Given the description of an element on the screen output the (x, y) to click on. 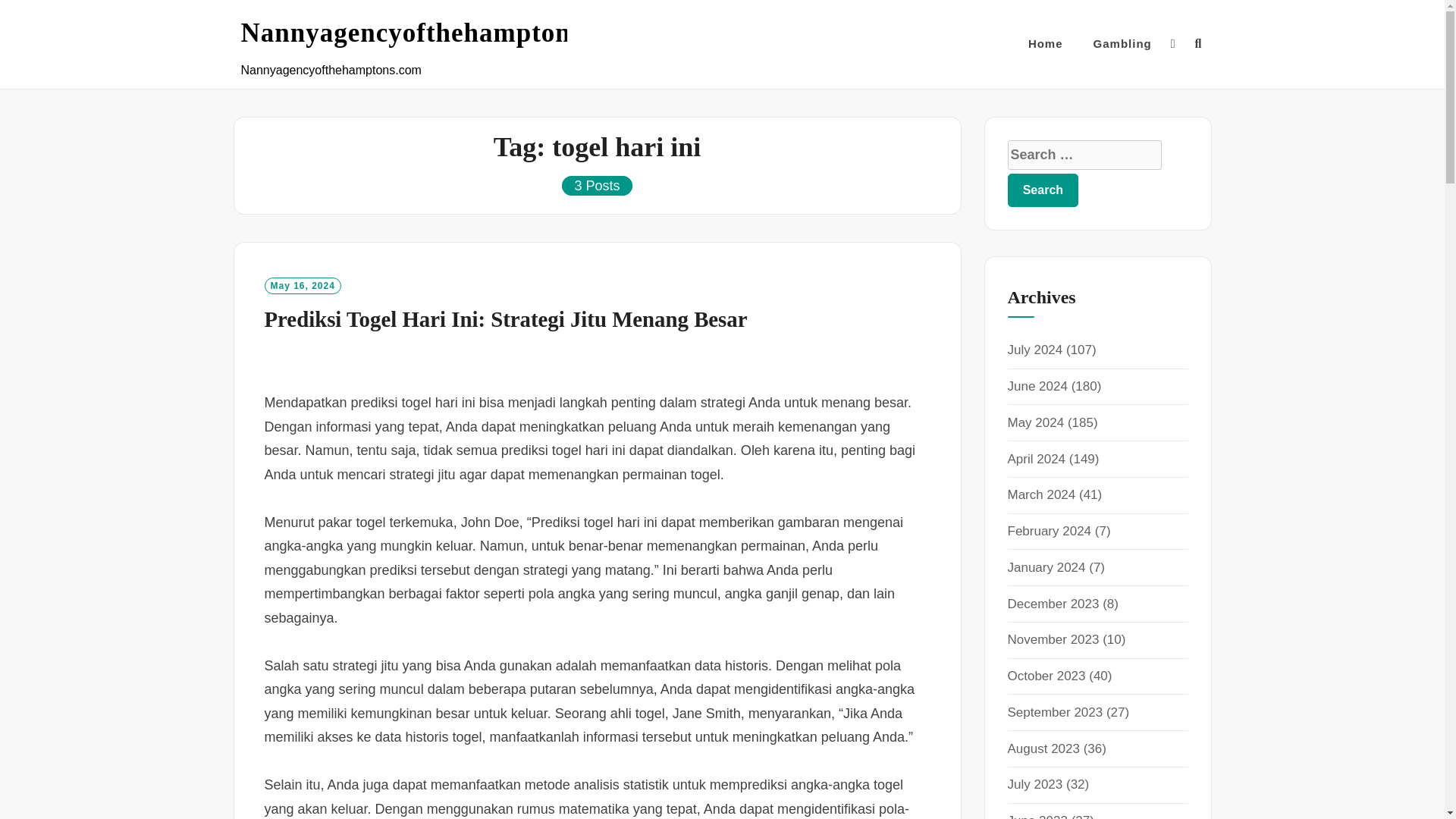
February 2024 (1048, 531)
June 2023 (1037, 816)
Home (1044, 44)
Search (1042, 190)
September 2023 (1054, 712)
Gambling (1122, 44)
December 2023 (1053, 603)
January 2024 (1045, 567)
July 2024 (1034, 350)
July 2023 (1034, 784)
November 2023 (1053, 639)
Search (1042, 190)
May 2024 (1035, 422)
Nannyagencyofthehamptons.Com (443, 33)
June 2024 (1037, 386)
